Given the description of an element on the screen output the (x, y) to click on. 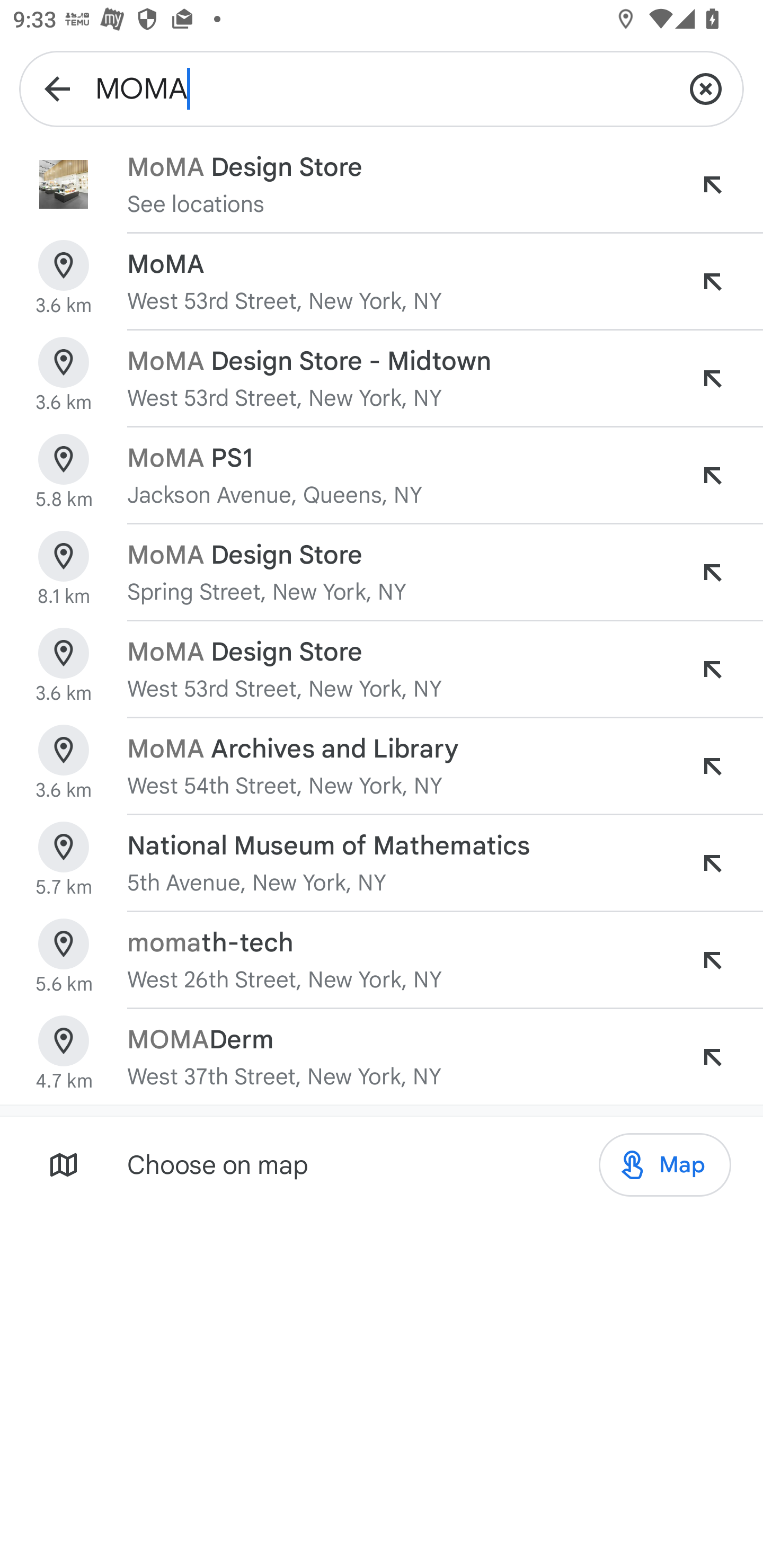
Navigate up (57, 88)
MOMA (381, 88)
Clear (705, 88)
Activate to enter suggestion MoMA into search bar (711, 281)
Choose on map Map Map Map (381, 1164)
Map Map Map (664, 1164)
